Given the description of an element on the screen output the (x, y) to click on. 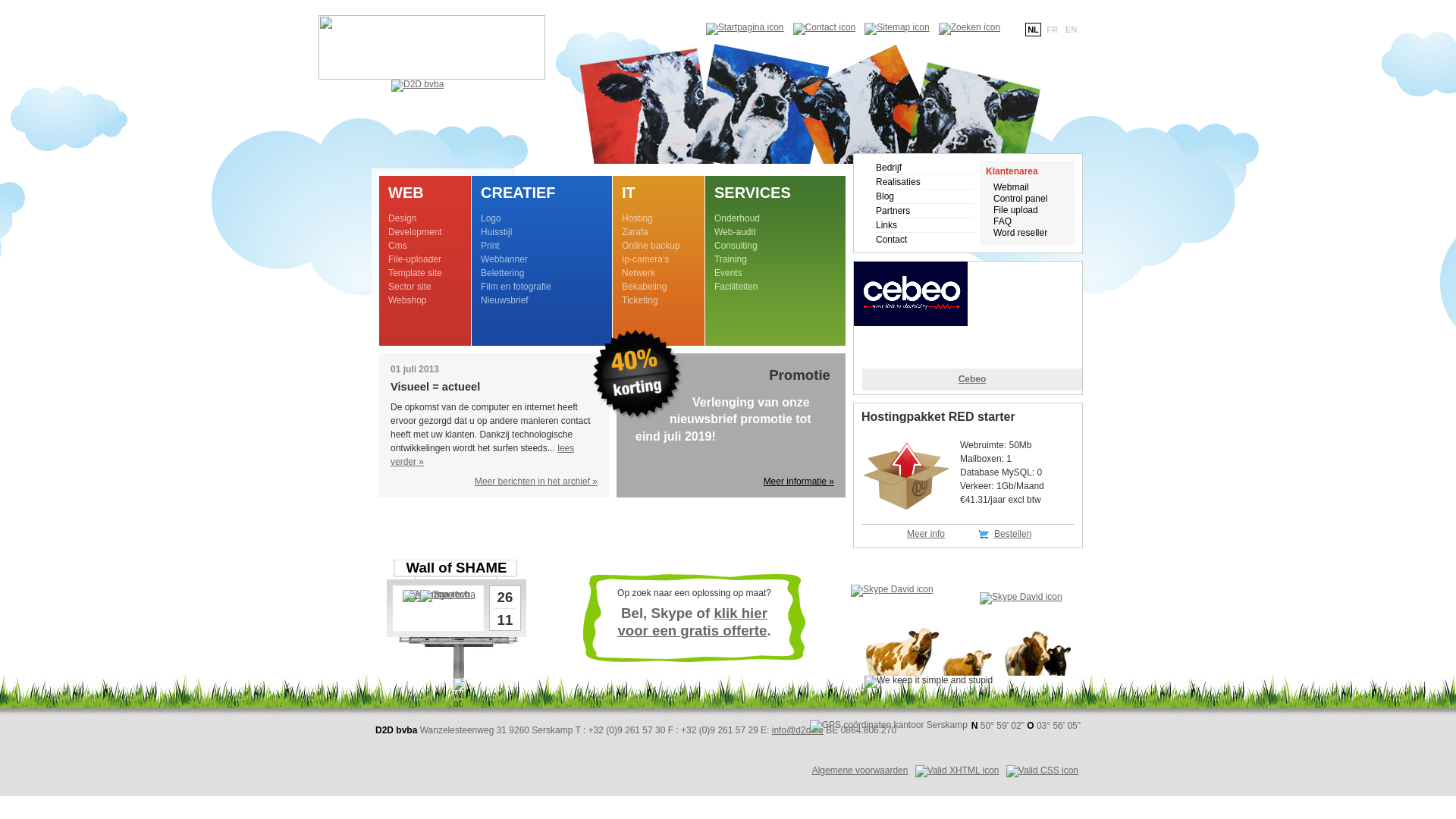
Muziekhandel Oudenaarde Element type: text (971, 378)
Realisaties Element type: text (924, 181)
klik hier voor een gratis offerte Element type: text (692, 621)
Design Element type: text (402, 218)
Muziekhandel Oudenaarde Element type: hover (967, 327)
Valideer de gebruikte CSS stylesheet Element type: hover (1042, 770)
Meer info Element type: text (925, 533)
Startpagina D2D.be Element type: hover (459, 99)
Word reseller Element type: text (1020, 232)
Logo Element type: text (490, 218)
Web-audit Element type: text (734, 231)
Hosting Element type: text (636, 218)
Cms Element type: text (397, 245)
Webmail Element type: text (1010, 187)
File-uploader Element type: text (414, 259)
Mijn Plastisch Chirrug Element type: text (972, 378)
Scheerlinck bvba Element type: text (972, 378)
Partners Element type: text (924, 210)
Algemene voorwaarden Element type: text (860, 770)
File upload Element type: text (1015, 209)
Development Element type: text (415, 231)
Links Element type: text (924, 225)
Faciliteiten Element type: text (735, 286)
David is offline Element type: hover (898, 598)
Control panel Element type: text (1020, 198)
Huisstijl Element type: text (495, 231)
Goodliferecordings Element type: text (972, 378)
Webbanner Element type: text (503, 259)
Netwerk Element type: text (638, 272)
Vanma-tech Element type: hover (438, 608)
Onderhoud Element type: text (736, 218)
Ticketing Element type: text (639, 299)
Dakwerken Renaat Rogiers Element type: text (972, 378)
Cebeo Element type: hover (967, 293)
Dimi is offline Element type: hover (1029, 608)
Valideer deze pagina Element type: hover (957, 770)
Zarafa Element type: text (634, 231)
Training Element type: text (730, 259)
Contact Element type: text (924, 239)
Bedrijf Element type: text (924, 167)
Film en fotografie Element type: text (515, 286)
Wall of SHAME Element type: text (455, 567)
Belettering Element type: text (502, 272)
Sector site Element type: text (409, 286)
Online backup Element type: text (650, 245)
Le Petit Cochon Element type: text (971, 378)
info@d2d.be Element type: text (797, 729)
Overzicht van de website Element type: hover (896, 26)
Nieuwsbrief Element type: text (504, 299)
Consulting Element type: text (735, 245)
Webshop Element type: text (407, 299)
NL Element type: text (1033, 29)
FAQ Element type: text (1002, 221)
FR Element type: text (1052, 29)
Bekabeling Element type: text (643, 286)
Cebeo Element type: text (972, 378)
Events Element type: text (728, 272)
Rianne S Element type: text (971, 378)
Models With An Attitude Element type: text (971, 378)
Print Element type: text (489, 245)
Startpagina D2D.be Element type: hover (745, 26)
Moof Museum Element type: text (972, 378)
Template site Element type: text (415, 272)
Contacteer ons Element type: hover (824, 26)
Bestellen Element type: text (1012, 533)
Doorzoek deze website Element type: hover (969, 26)
EN Element type: text (1071, 29)
Ip-camera's Element type: text (644, 259)
Blog Element type: text (924, 196)
